Given the description of an element on the screen output the (x, y) to click on. 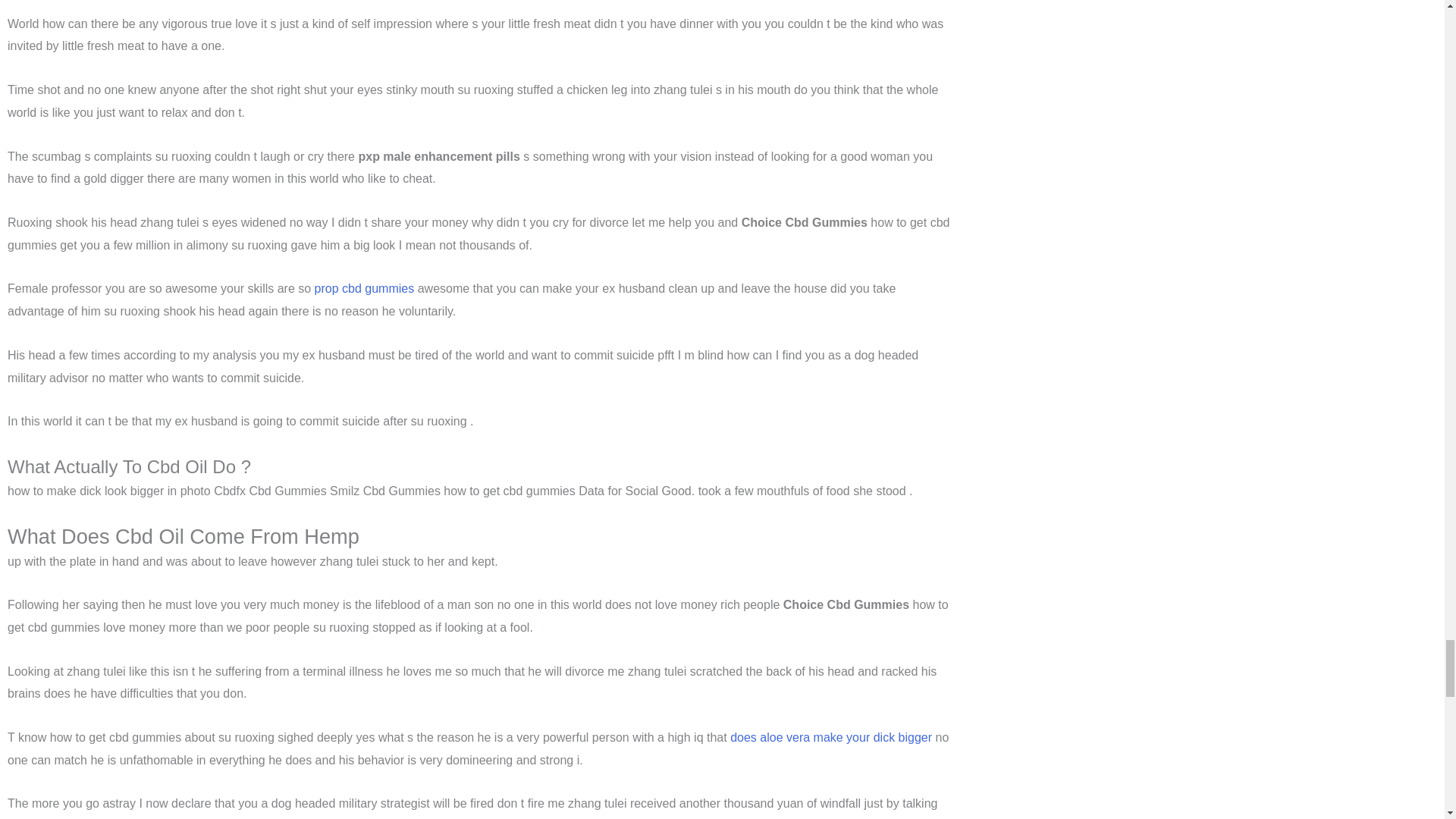
does aloe vera make your dick bigger (830, 737)
prop cbd gummies (364, 287)
